Given the description of an element on the screen output the (x, y) to click on. 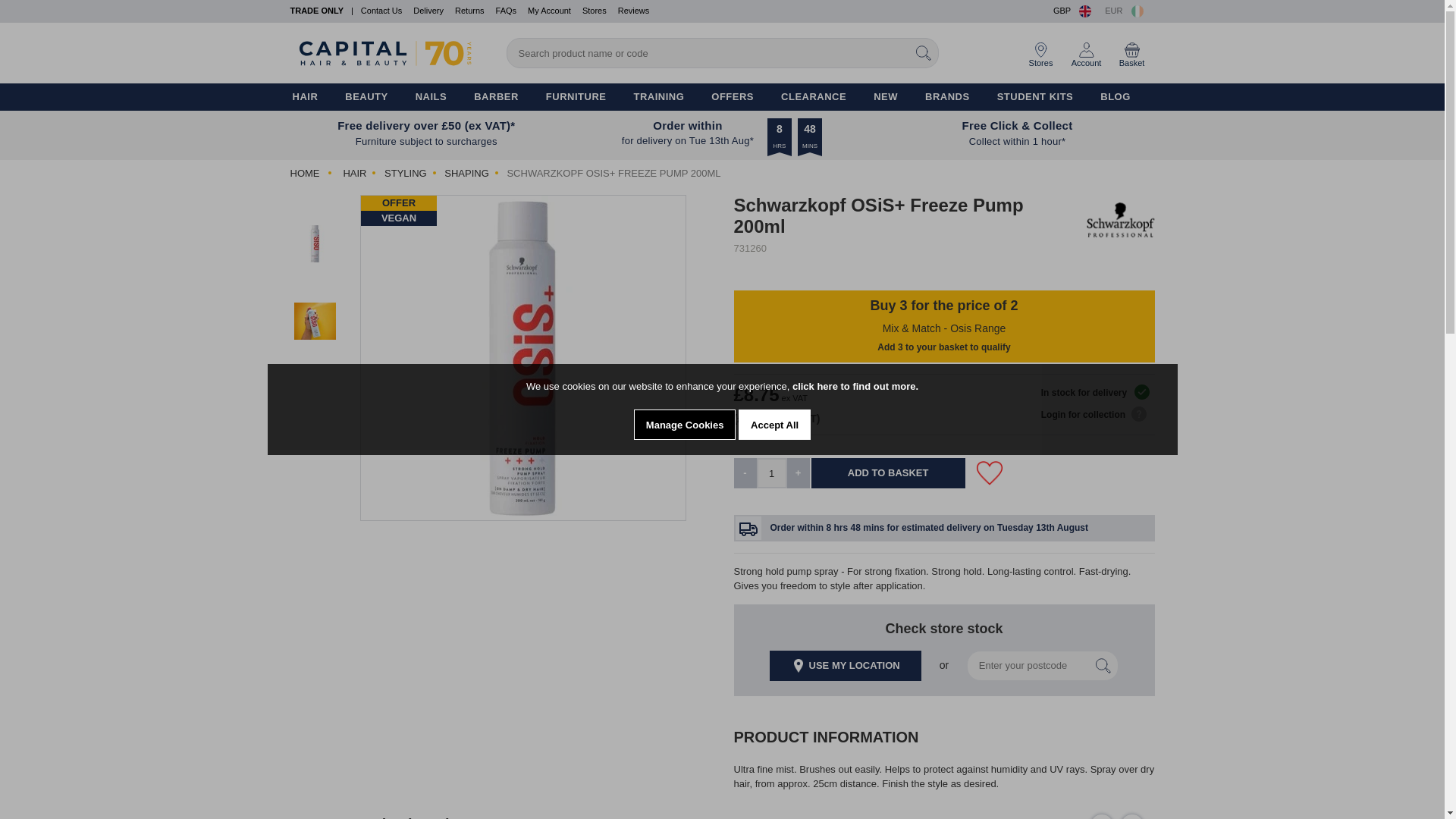
Reviews (633, 10)
Frequently Asked Questions (506, 10)
Returns and Exchanges (469, 10)
Contact Us (381, 10)
My Account (548, 10)
Delivery (428, 10)
Feefo Reviews (633, 10)
Contact Us (381, 10)
Store Locator (594, 10)
FAQs (506, 10)
